Given the description of an element on the screen output the (x, y) to click on. 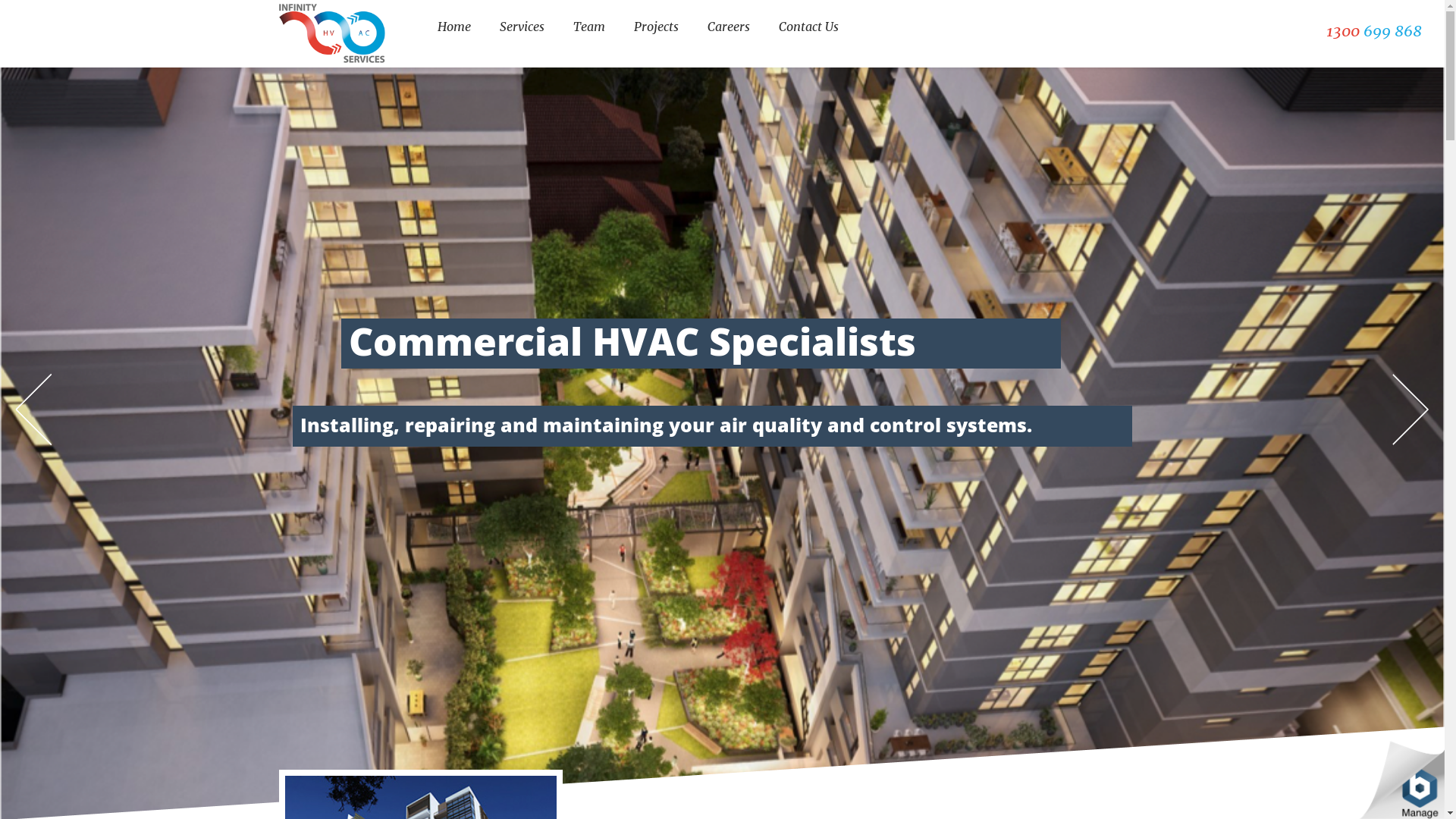
Air Condition Service & Repairs | Sydney - Hvac Infinity Element type: hover (332, 32)
Team Element type: text (588, 26)
1300 699 868 Element type: text (1373, 30)
Services Element type: text (521, 26)
Home Element type: text (453, 26)
Air Condition Service & Repairs | Sydney - Hvac Infinity Element type: hover (332, 33)
Projects Element type: text (656, 26)
Contact Us Element type: text (807, 26)
Careers Element type: text (727, 26)
